Given the description of an element on the screen output the (x, y) to click on. 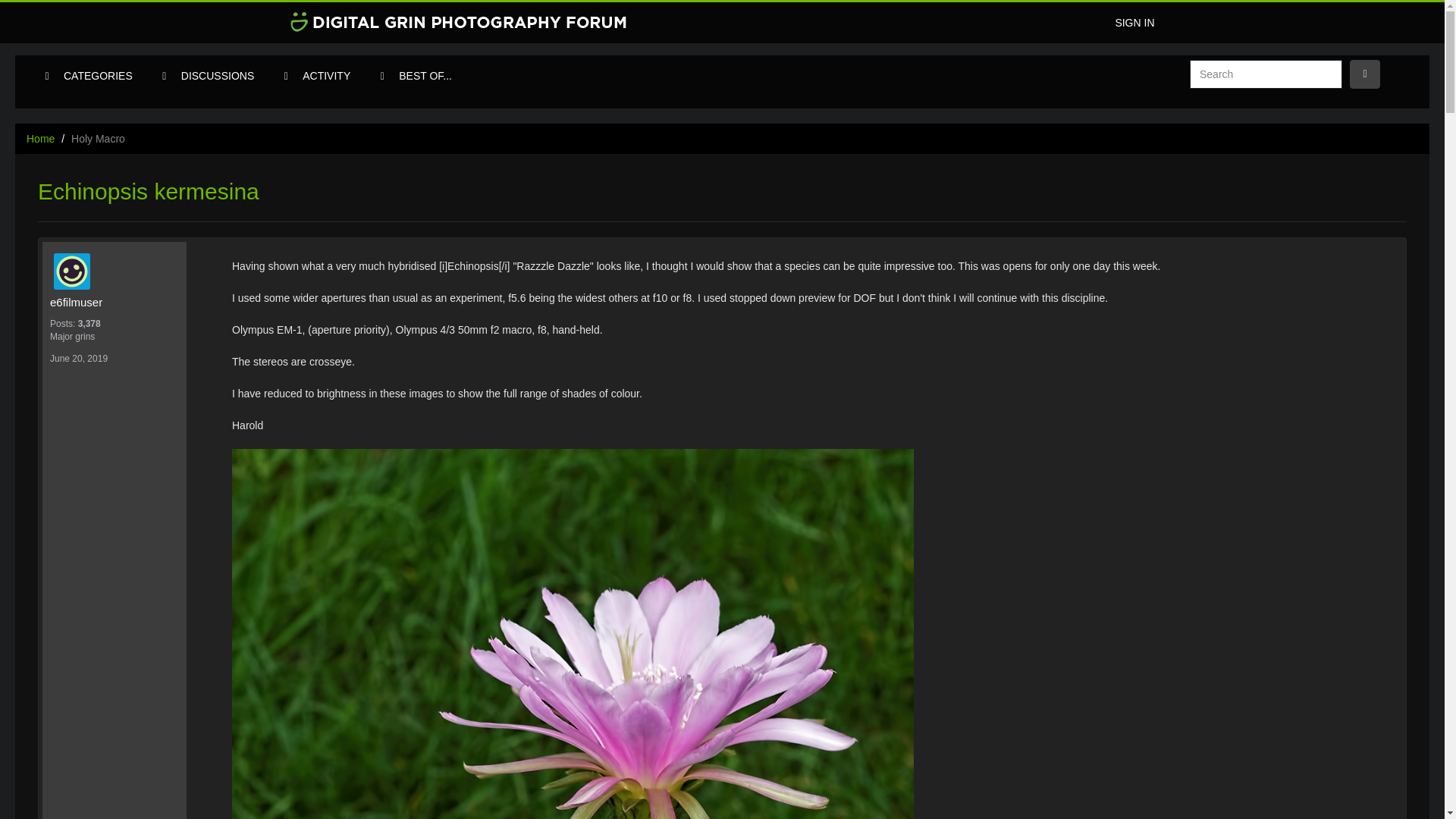
ACTIVITY (326, 75)
June 20, 2019 6:16AM (78, 357)
Home (40, 138)
June 20, 2019 (78, 357)
SIGN IN (1134, 22)
BEST OF... (425, 75)
Options (1364, 73)
Major grins (114, 336)
e6filmuser (118, 271)
e6filmuser (114, 302)
